Given the description of an element on the screen output the (x, y) to click on. 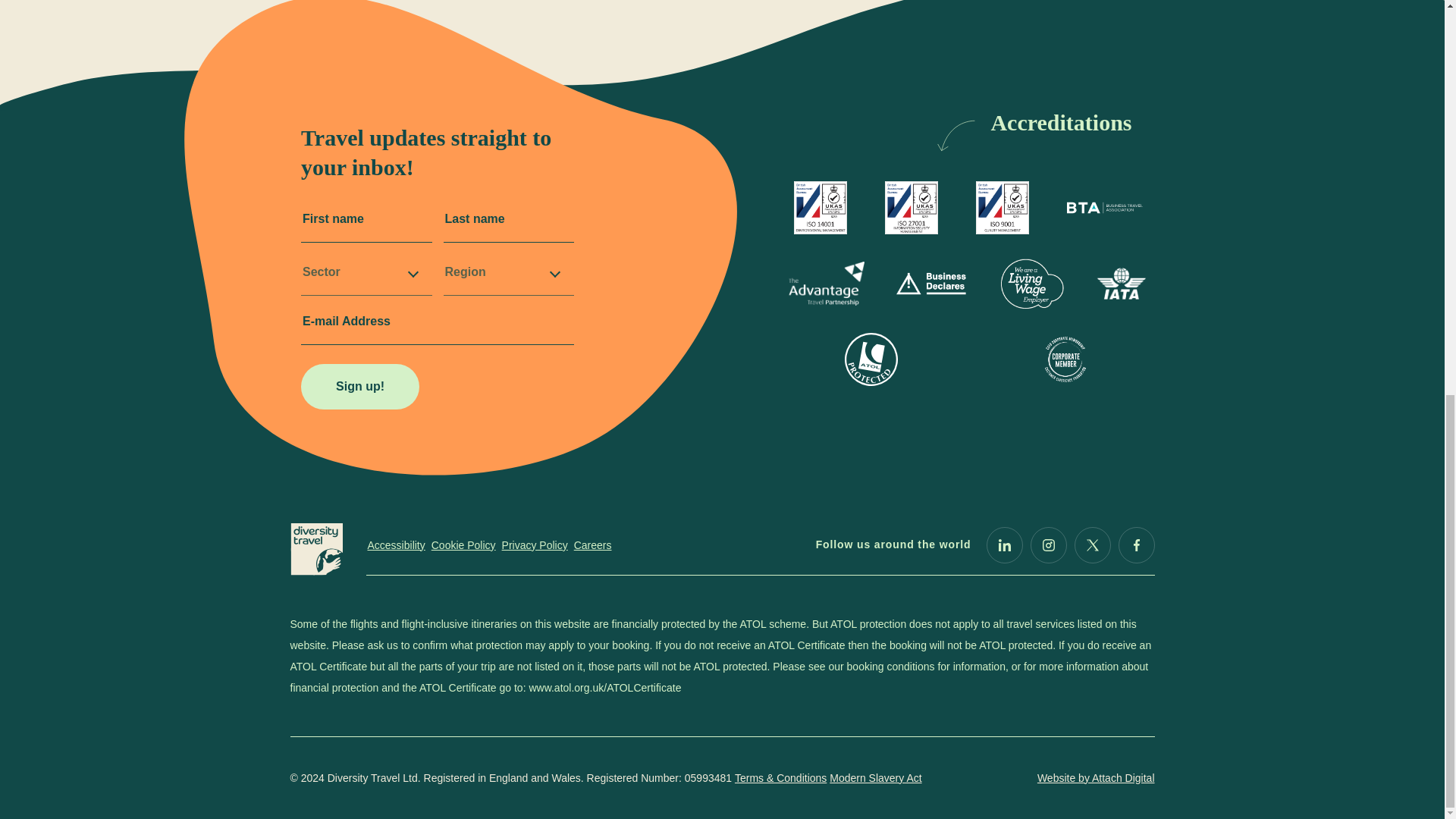
Careers (592, 544)
Sign up! (360, 386)
Cookie Policy (463, 544)
Privacy Policy (534, 544)
Instagram (1047, 545)
Accessibility (395, 544)
Linkedin (1003, 545)
